Given the description of an element on the screen output the (x, y) to click on. 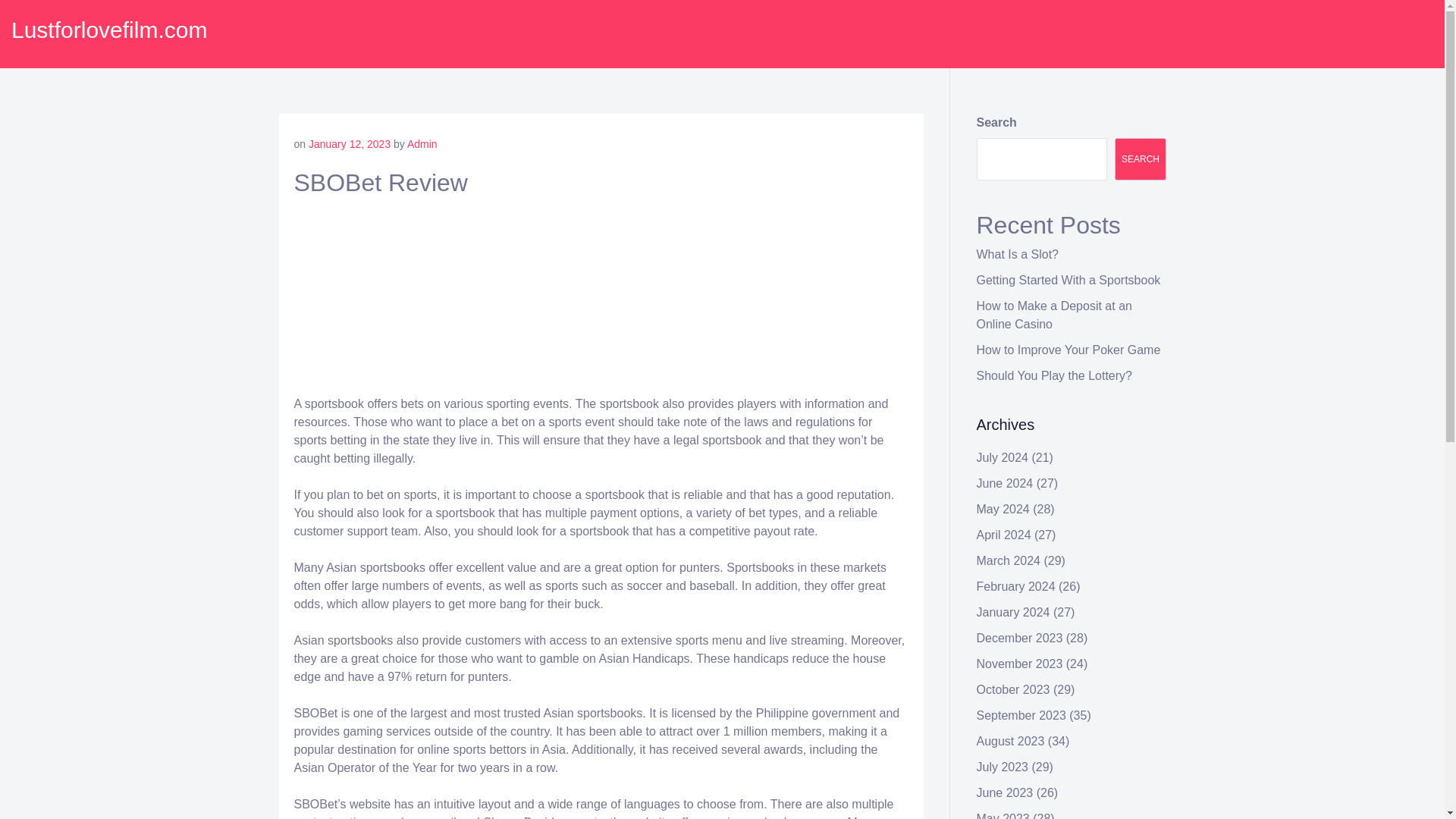
December 2023 (1019, 637)
How to Improve Your Poker Game (1068, 349)
August 2023 (1010, 740)
May 2023 (1002, 815)
July 2023 (1002, 766)
How to Make a Deposit at an Online Casino (1054, 314)
Should You Play the Lottery? (1054, 375)
April 2024 (1003, 534)
September 2023 (1020, 715)
What Is a Slot? (1017, 254)
